Given the description of an element on the screen output the (x, y) to click on. 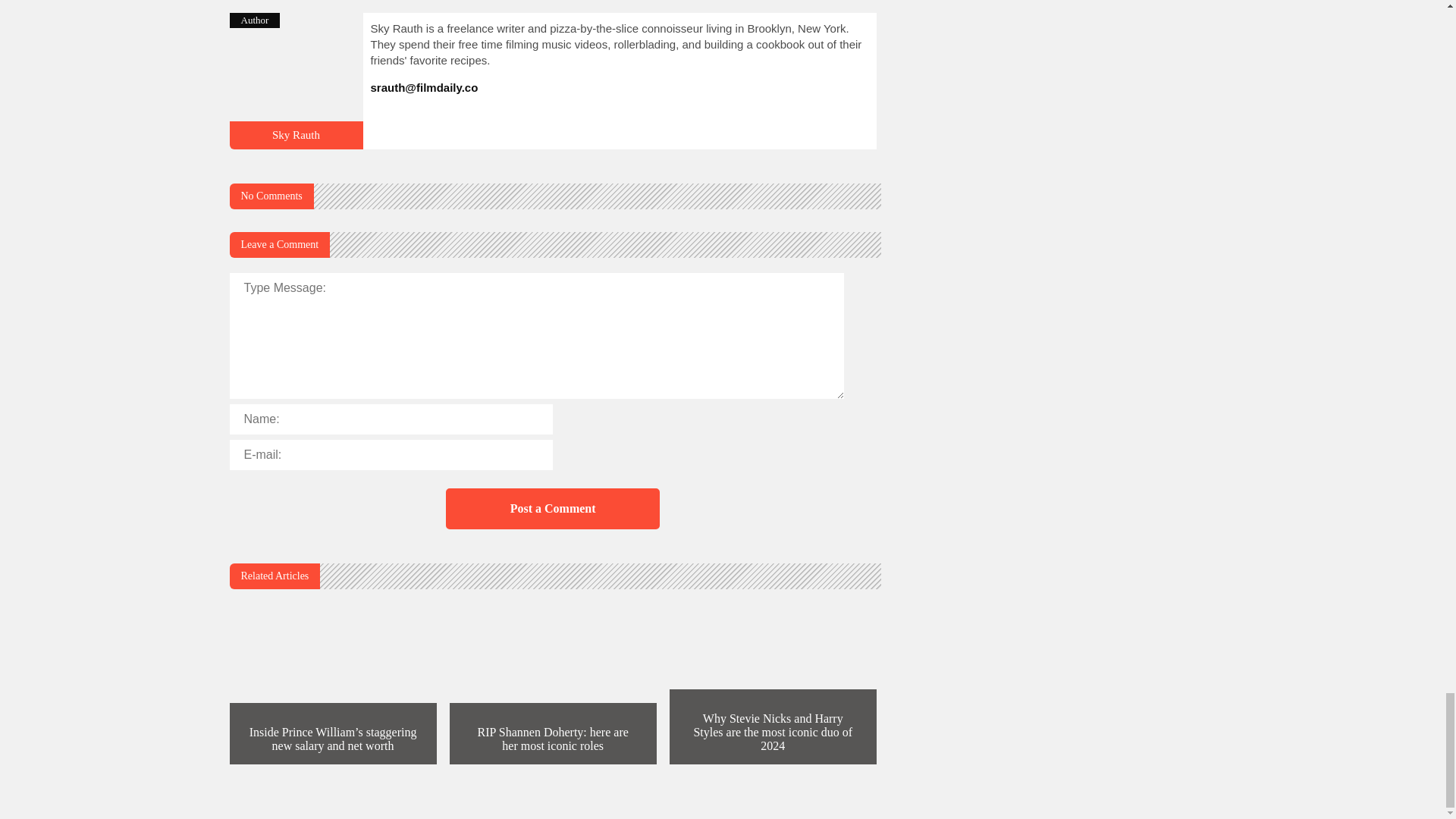
Which are the most popular Celine Dion songs? (295, 142)
Which are the most popular Celine Dion songs? (296, 134)
Post a Comment (552, 508)
